Given the description of an element on the screen output the (x, y) to click on. 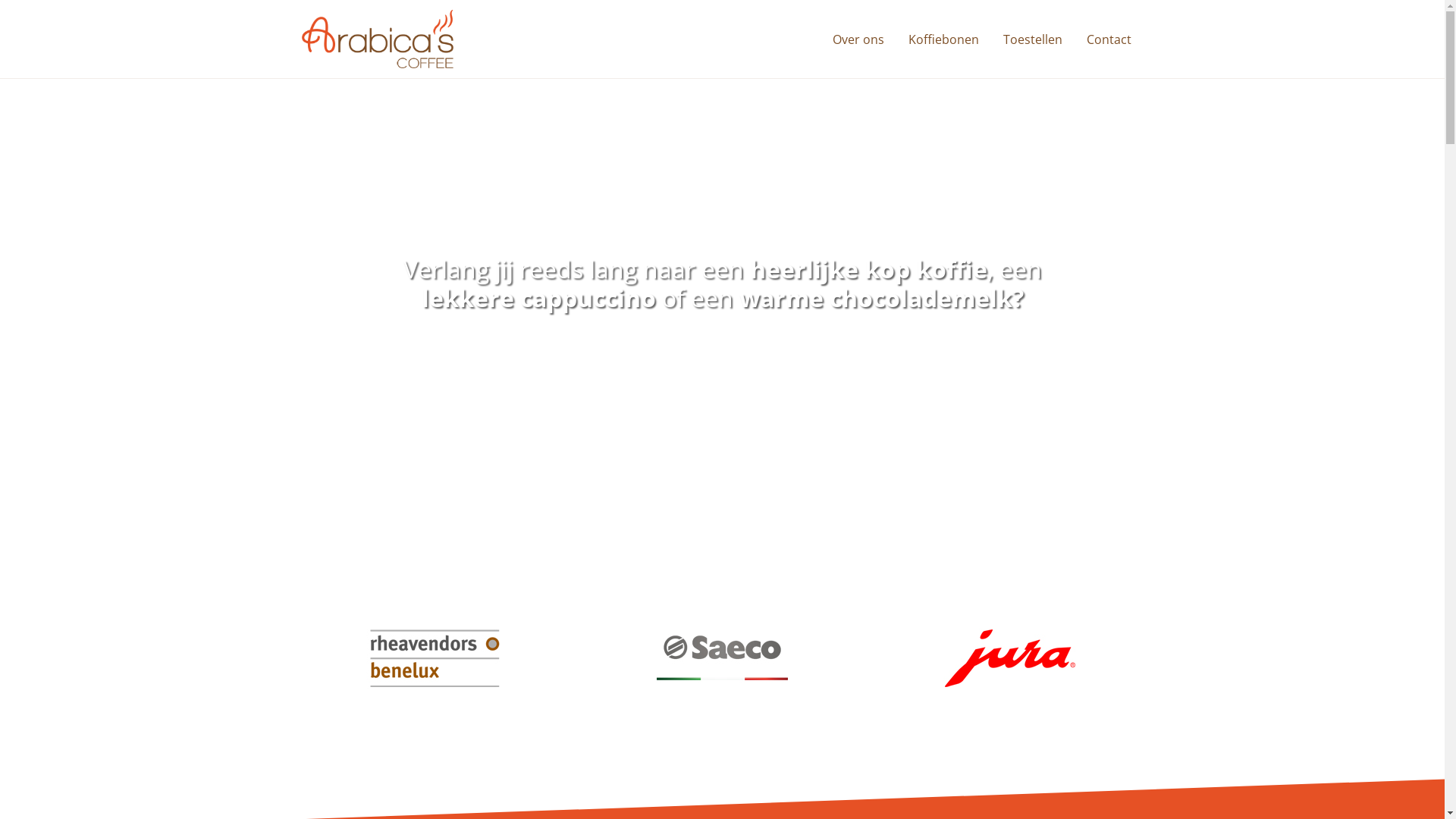
Jura Element type: hover (1009, 657)
Over ons Element type: text (858, 39)
Toestellen Element type: text (1031, 39)
Saeco Element type: hover (721, 657)
Koffiebonen Element type: text (943, 39)
Rheavendors Element type: hover (433, 657)
Contact Element type: text (1107, 39)
